Given the description of an element on the screen output the (x, y) to click on. 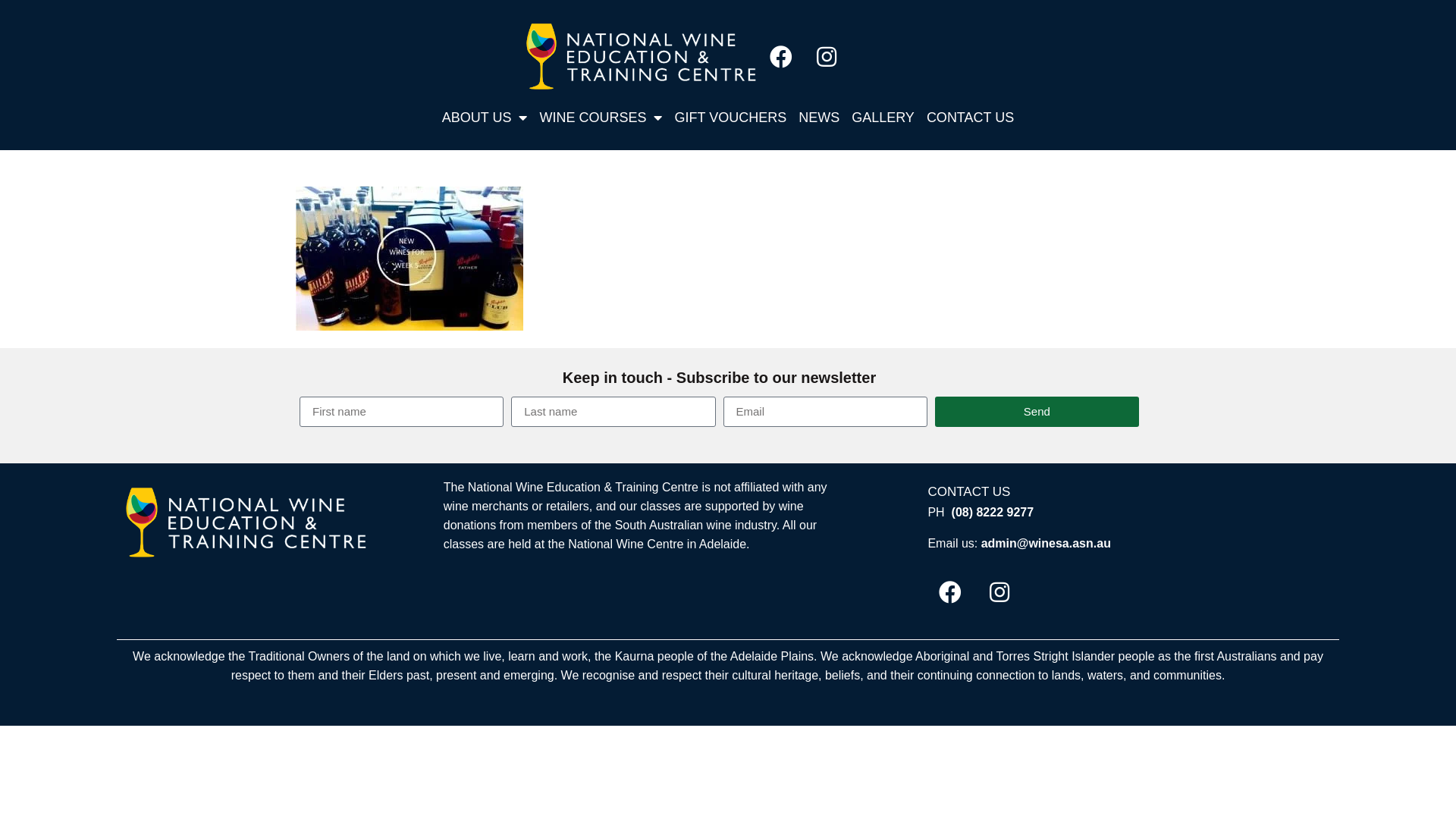
Send Element type: text (1037, 411)
GALLERY Element type: text (882, 117)
NEWS Element type: text (818, 117)
ABOUT US Element type: text (484, 117)
CONTACT US Element type: text (969, 117)
WINE COURSES Element type: text (600, 117)
GIFT VOUCHERS Element type: text (730, 117)
admin@winesa.asn.au Element type: text (1045, 542)
